Given the description of an element on the screen output the (x, y) to click on. 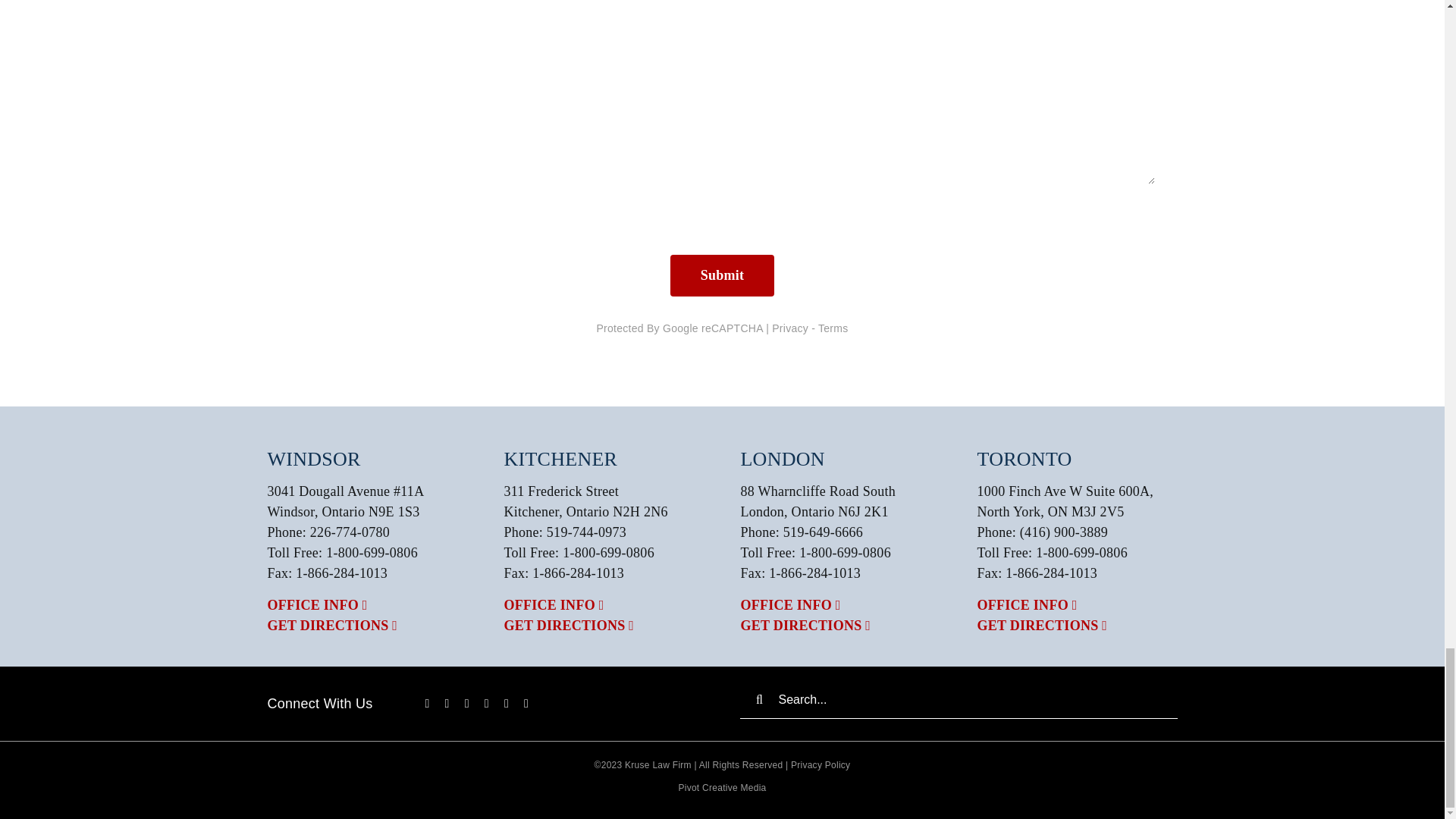
YouTube (486, 703)
Facebook (427, 703)
Rss (526, 703)
Tiktok (466, 703)
LinkedIn (505, 703)
Twitter (447, 703)
